Given the description of an element on the screen output the (x, y) to click on. 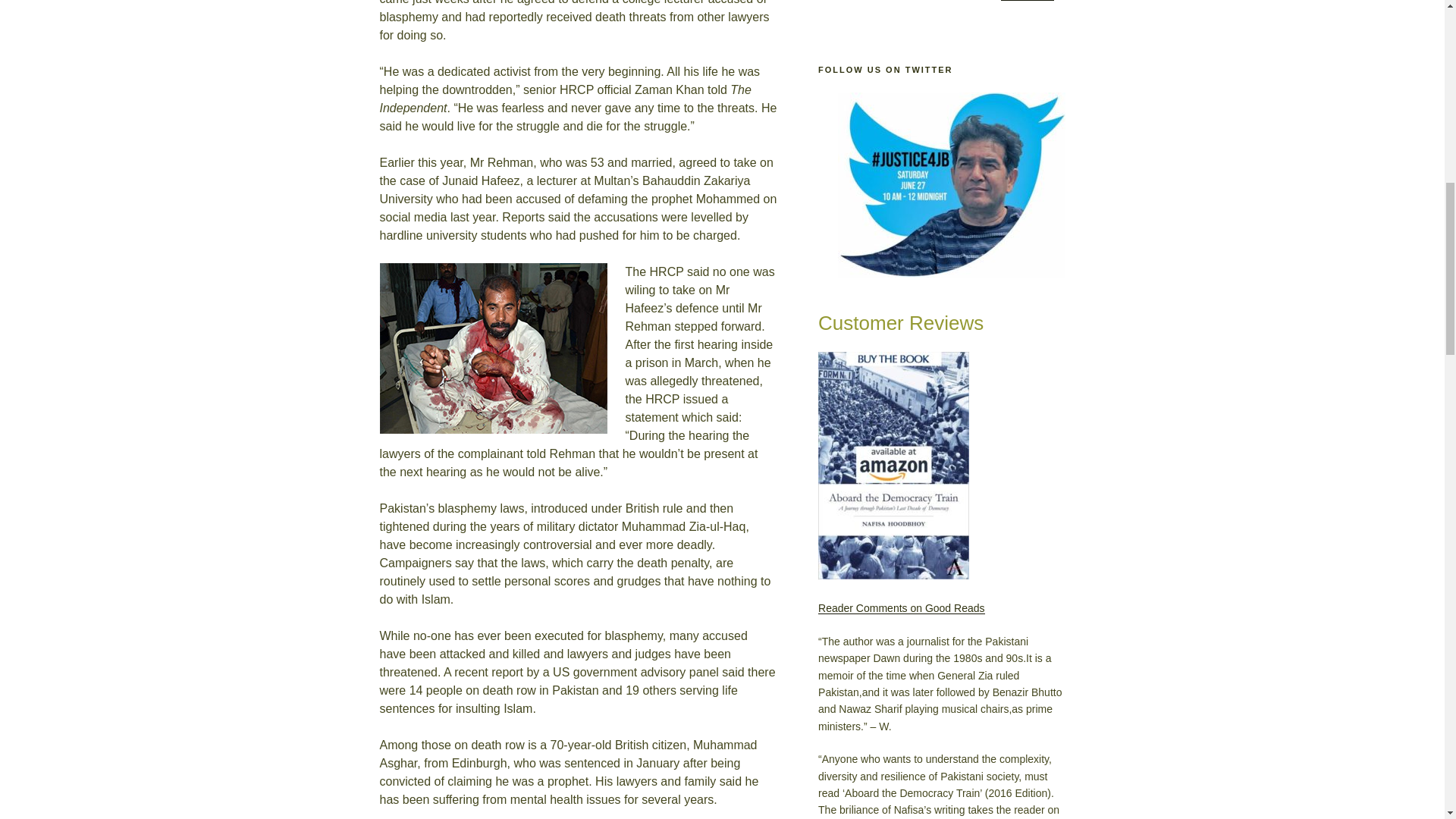
Reader Comments on Good Reads (901, 607)
